Given the description of an element on the screen output the (x, y) to click on. 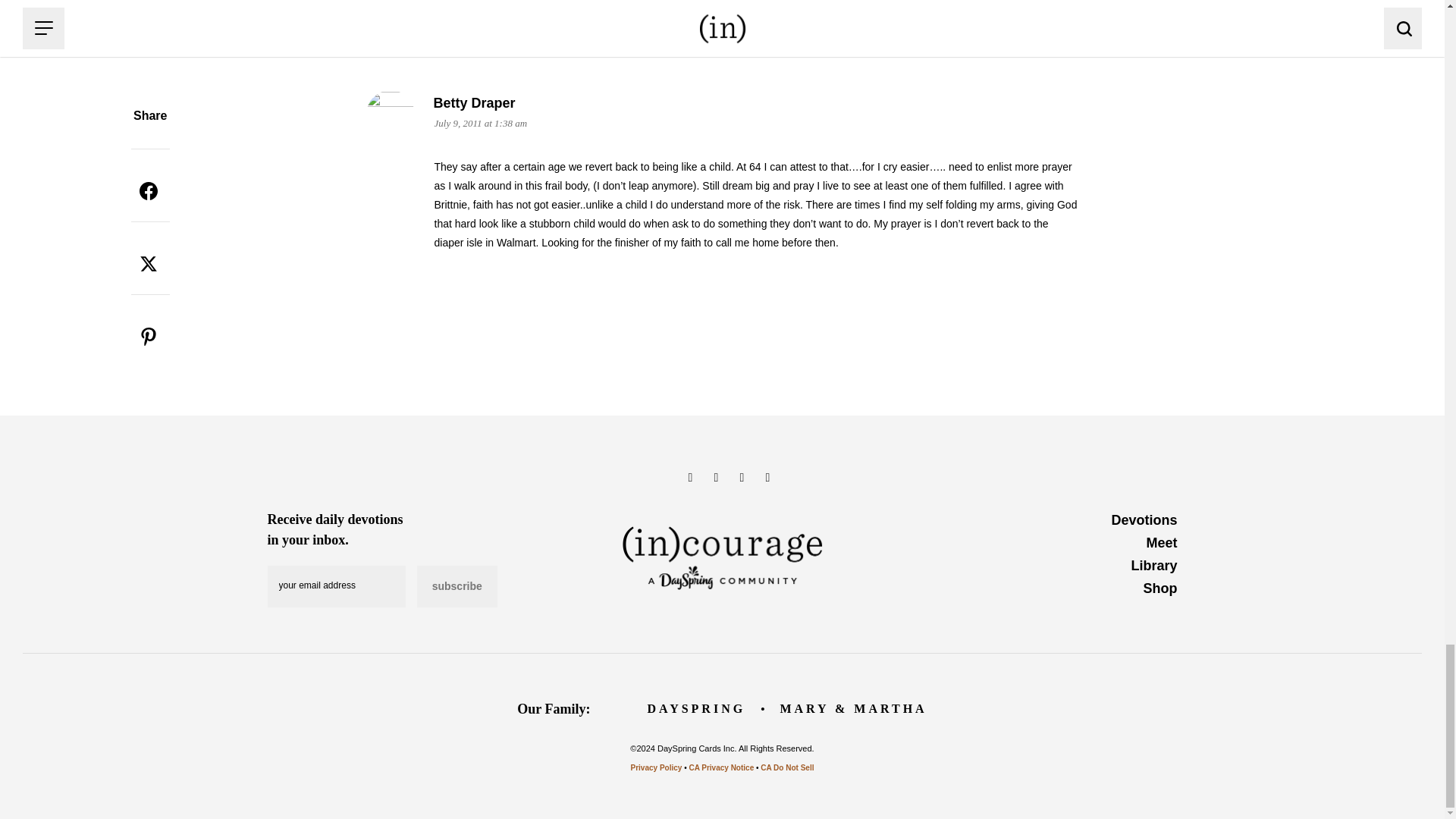
Subscribe (456, 586)
